Given the description of an element on the screen output the (x, y) to click on. 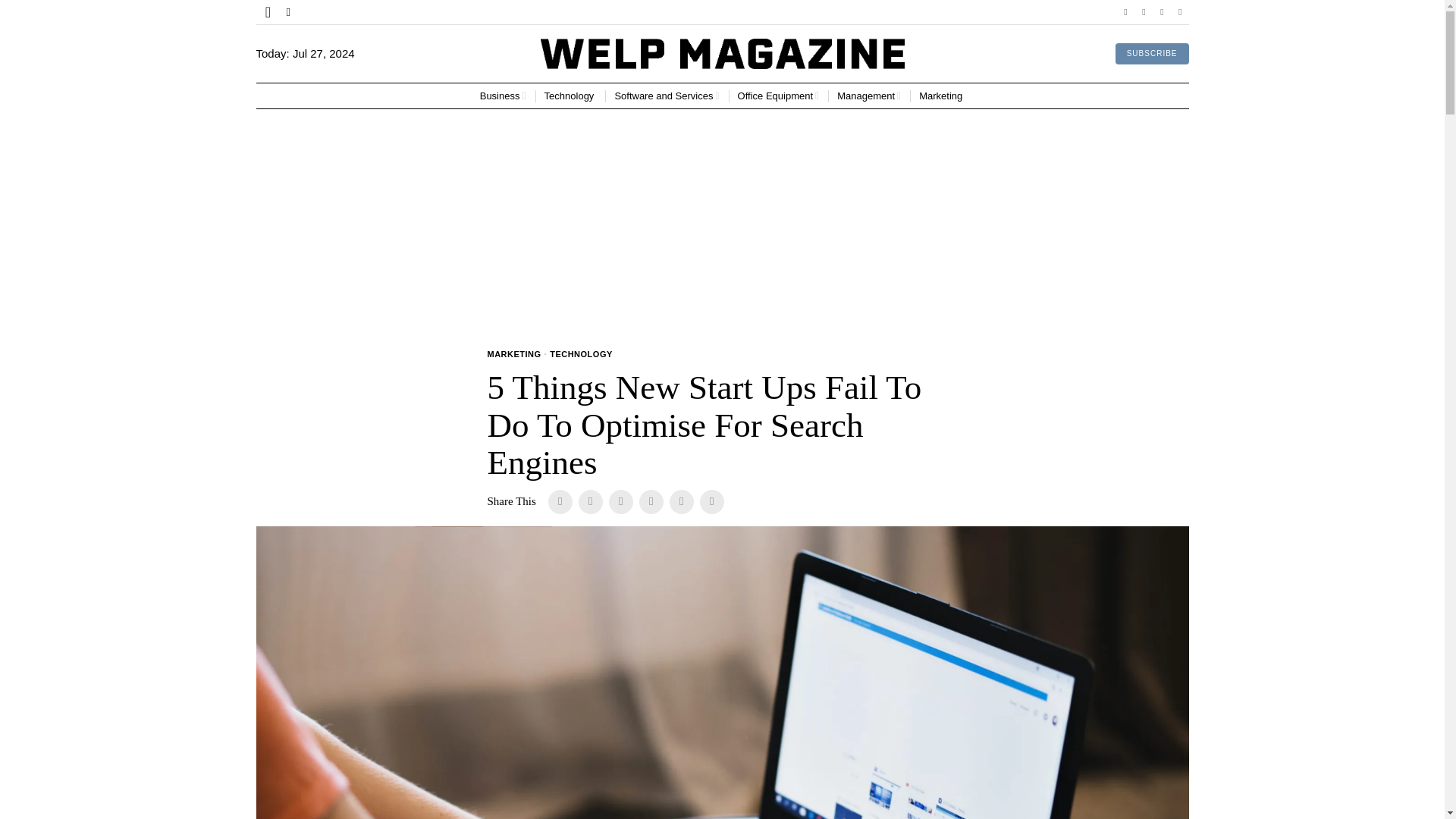
Marketing (942, 95)
Technology (570, 95)
Management (869, 95)
Software and Services (666, 95)
Business (502, 95)
MARKETING (513, 354)
Office Equipment (778, 95)
TECHNOLOGY (581, 354)
SUBSCRIBE (1152, 53)
